Given the description of an element on the screen output the (x, y) to click on. 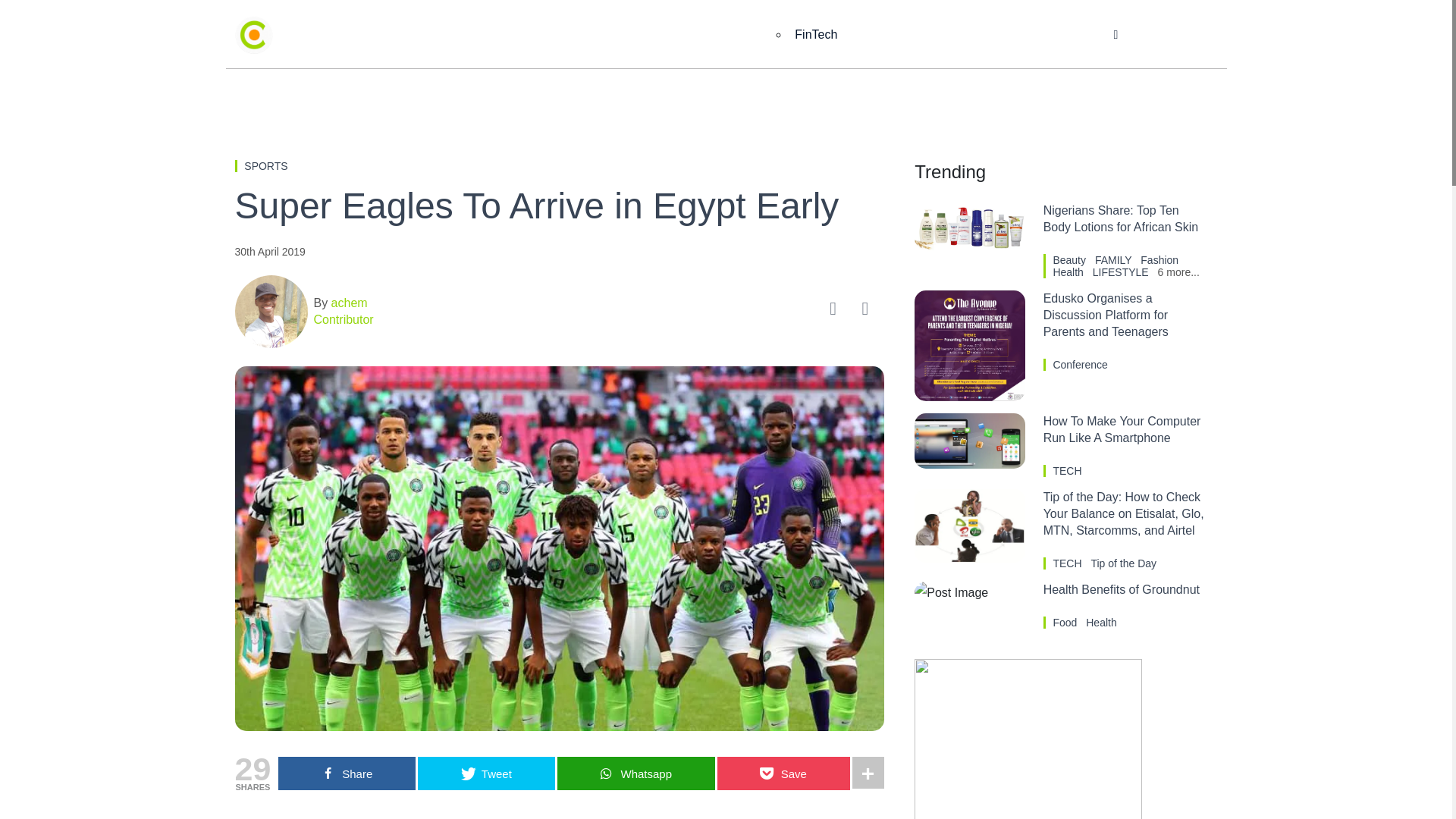
Super Eagles To Arrive in Egypt Early (558, 206)
Politics (739, 34)
FinTech (816, 34)
Share (346, 773)
FinTech (816, 34)
Lifestyle (943, 34)
Business (547, 34)
SPORTS (265, 165)
Sports (866, 34)
Entertainment (646, 34)
Lifestyle (943, 34)
Tweet (485, 773)
Politics (739, 34)
Home (469, 34)
Opportunities (1037, 34)
